Given the description of an element on the screen output the (x, y) to click on. 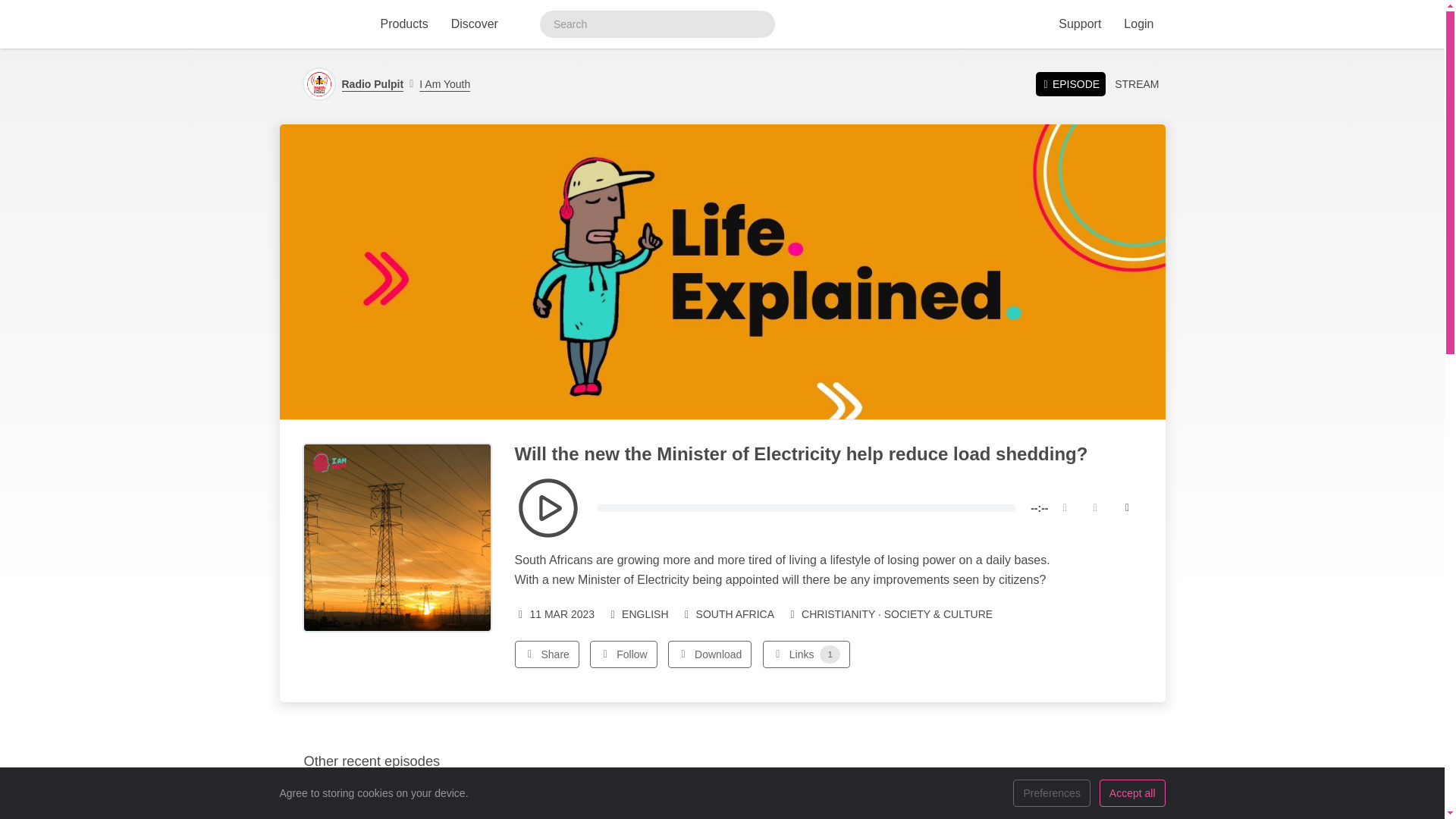
Discover (474, 24)
Visit iono.fm homepage (316, 24)
Skip forward (1094, 507)
Publish date (553, 614)
Login (1138, 24)
Support (1079, 24)
Categories (889, 614)
Toggle playback (547, 507)
Country (727, 614)
STREAM (1136, 84)
Products (403, 24)
Search (758, 23)
Skip backward (1064, 507)
I Am Youth (439, 84)
Radio Pulpit (371, 84)
